Given the description of an element on the screen output the (x, y) to click on. 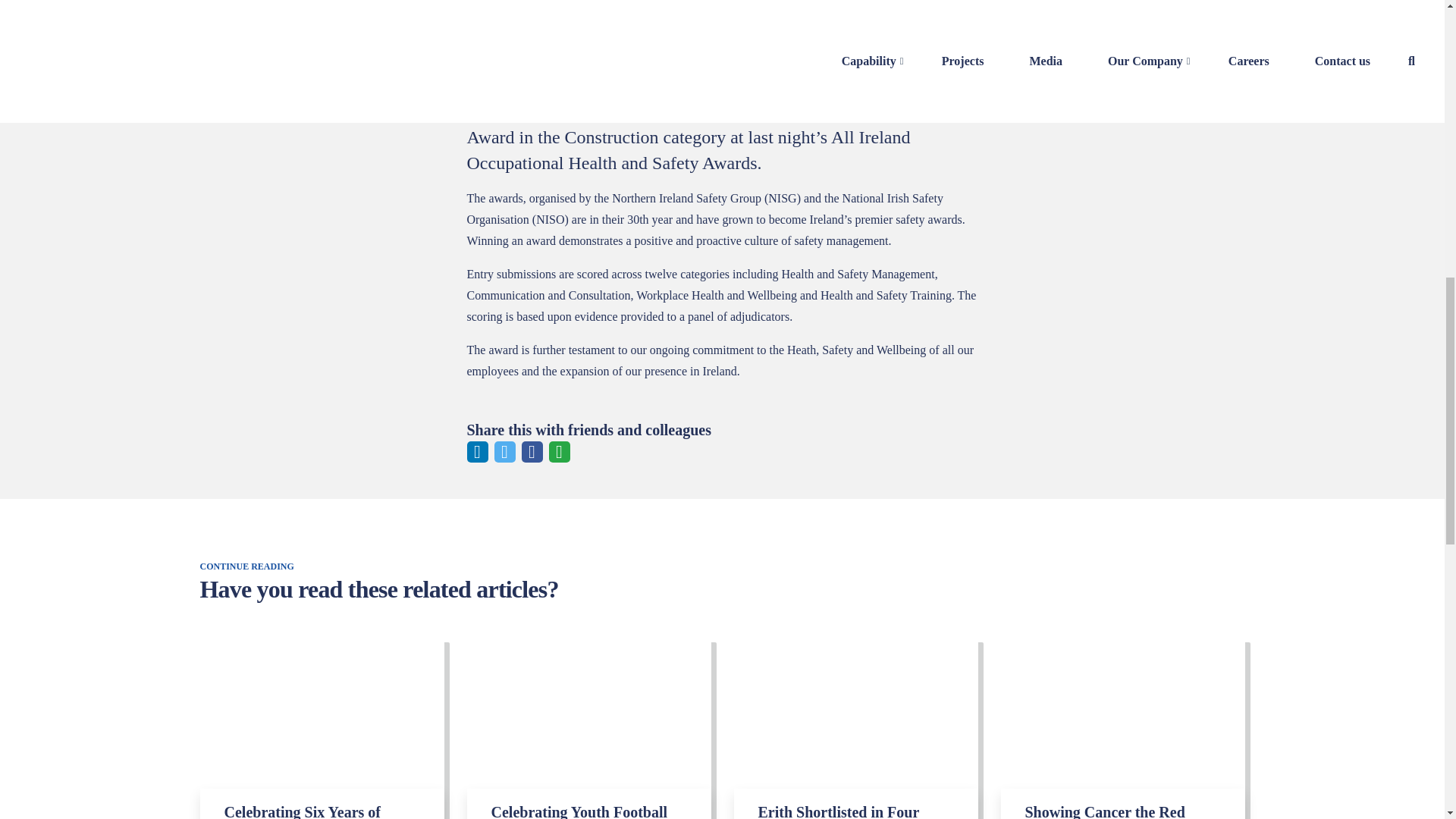
Celebrating Youth Football Excellence (589, 728)
Celebrating Six Years of RoSPA Gold (322, 728)
Showing Cancer the Red Card, with Football Vs. Cancer (1122, 728)
